Given the description of an element on the screen output the (x, y) to click on. 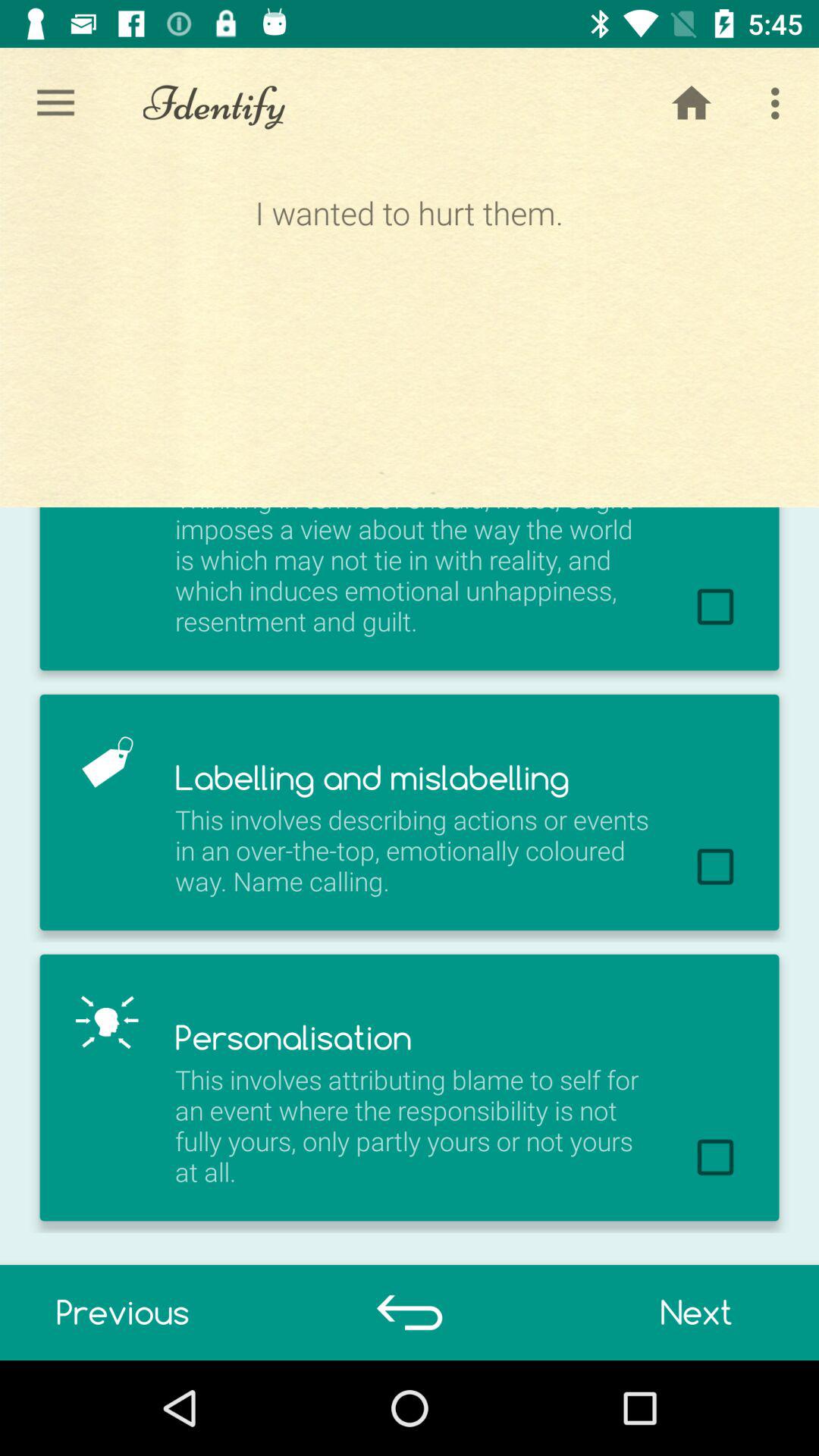
turn on next (696, 1312)
